Given the description of an element on the screen output the (x, y) to click on. 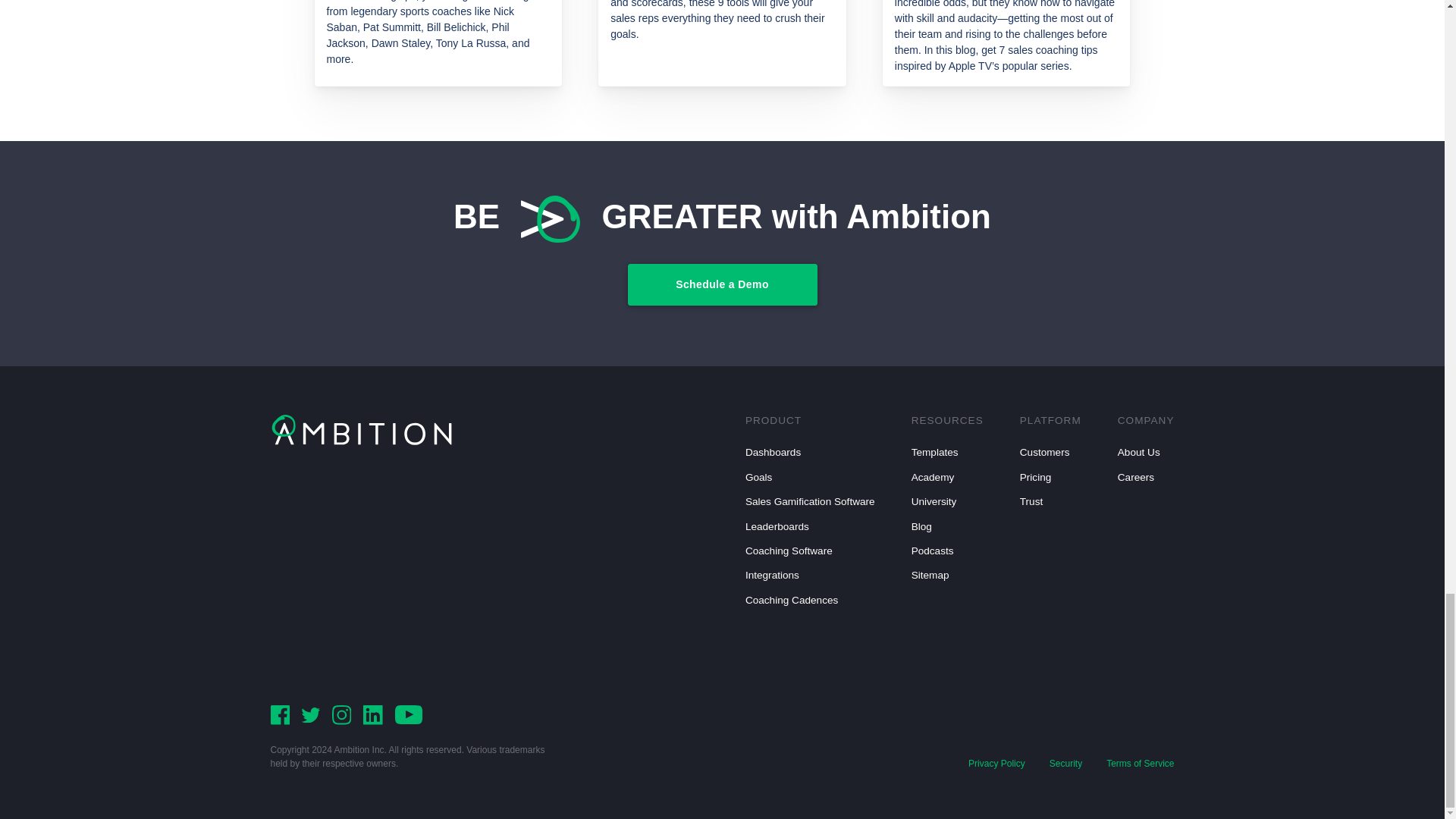
Follow Ambition on Twitter (310, 714)
Subscribe to Ambition on YouTube (408, 714)
Ambition's Security (1065, 763)
Follow Ambition on LinkedIn (372, 714)
Like Ambition on Facebook (279, 714)
Follow Ambition on Instagram (341, 714)
Ambition's Privacy Policy (996, 763)
Ambition's Terms of Service (1139, 763)
